Given the description of an element on the screen output the (x, y) to click on. 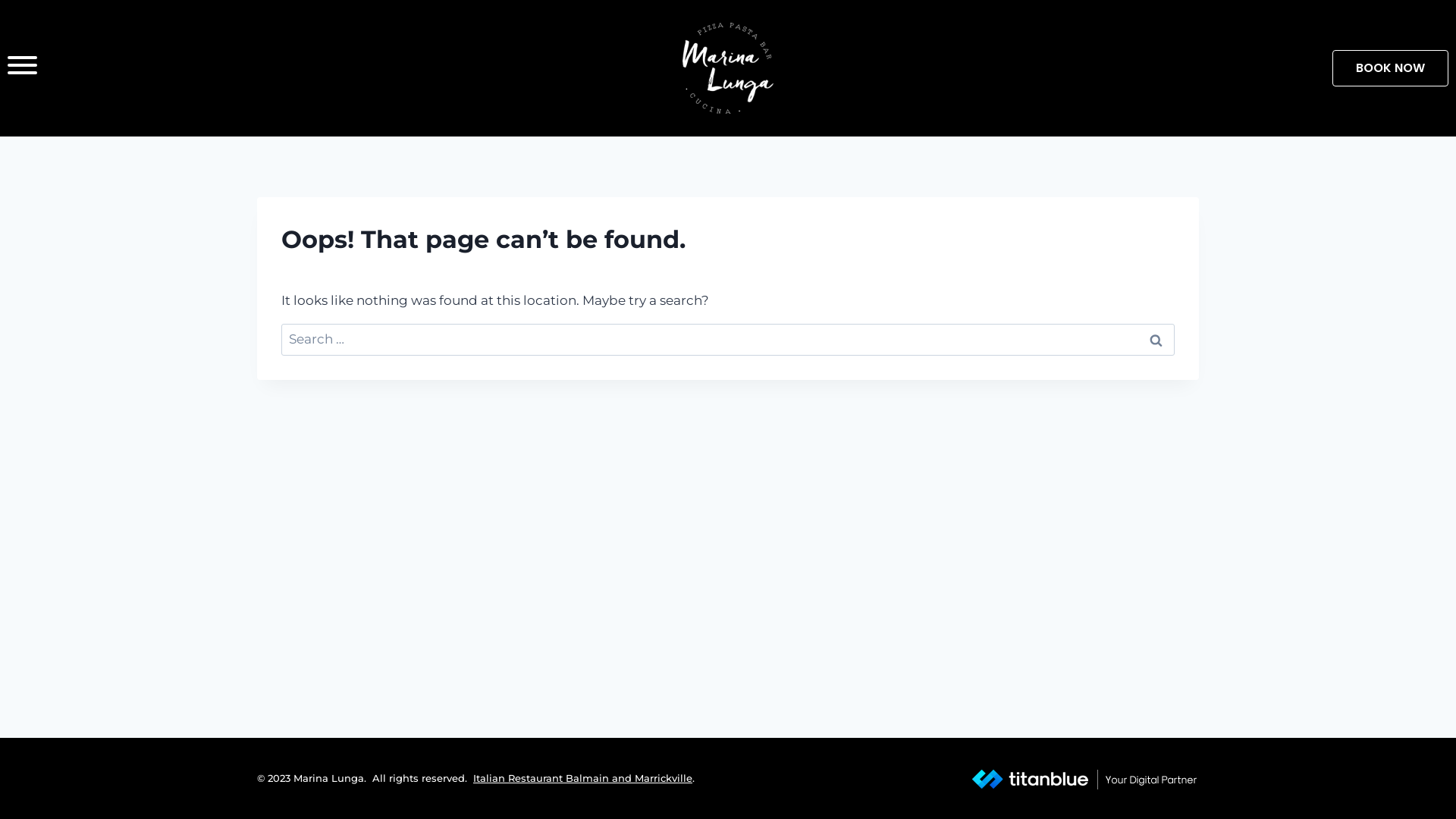
Search Element type: text (1155, 339)
Italian Restaurant Balmain and Marrickville Element type: text (582, 777)
Marina Lunga Logo Home Main Element type: hover (727, 67)
BOOK NOW Element type: text (1390, 68)
